Given the description of an element on the screen output the (x, y) to click on. 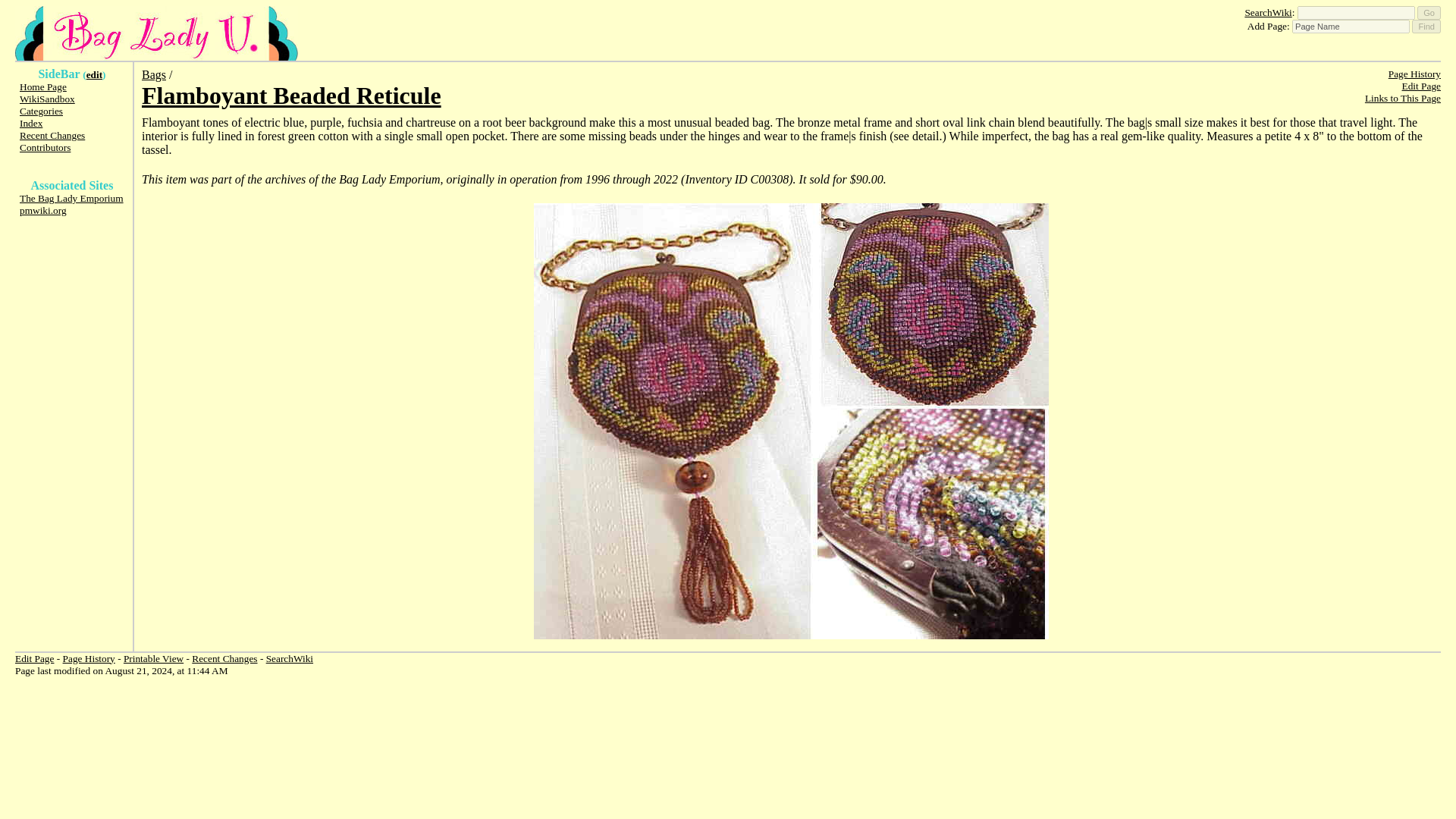
Edit Page (33, 658)
Bags (153, 74)
WikiSandbox (47, 98)
Printable View (153, 658)
Page Name (1350, 26)
Recent Changes (52, 134)
edit (93, 74)
Flamboyant Beaded Reticule (291, 94)
Recent Changes (224, 658)
Home Page (43, 86)
